Given the description of an element on the screen output the (x, y) to click on. 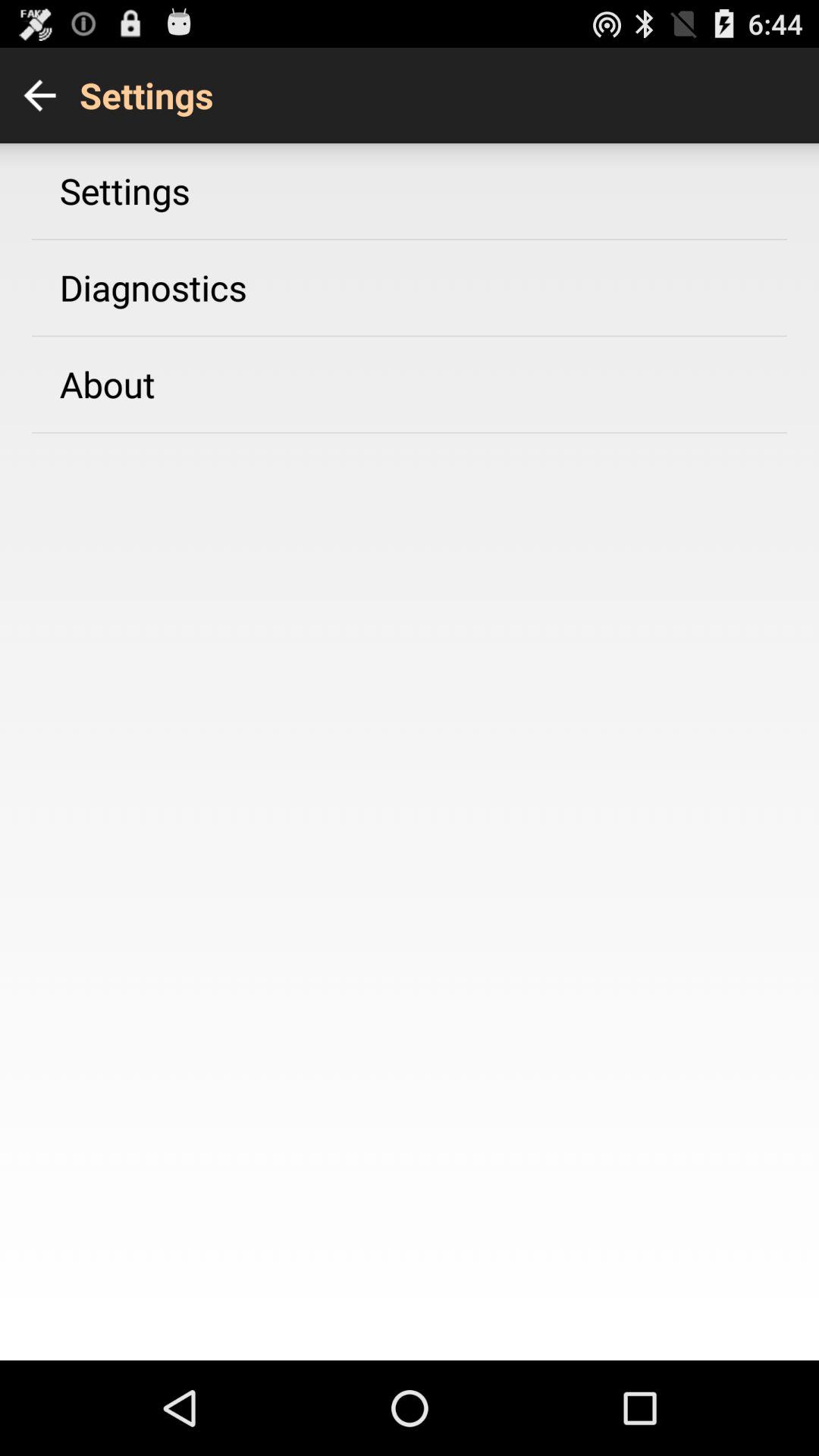
click the item below the settings icon (152, 287)
